Given the description of an element on the screen output the (x, y) to click on. 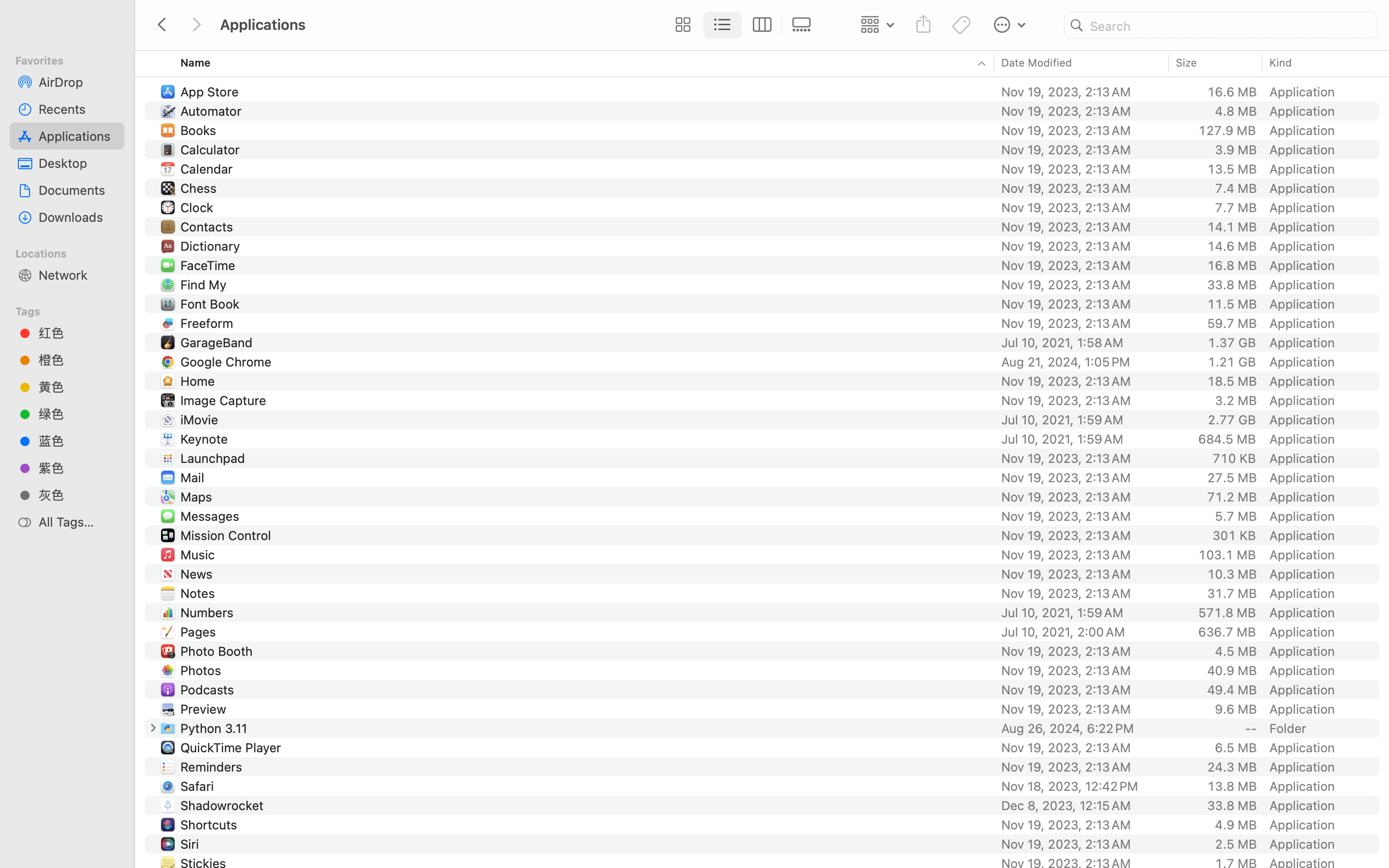
Nov 19, 2023, 2:13 AM Element type: AXStaticText (1081, 592)
蓝色 Element type: AXStaticText (77, 440)
AirDrop Element type: AXStaticText (77, 81)
Freeform Element type: AXTextField (208, 322)
24.3 MB Element type: AXStaticText (1231, 766)
